Given the description of an element on the screen output the (x, y) to click on. 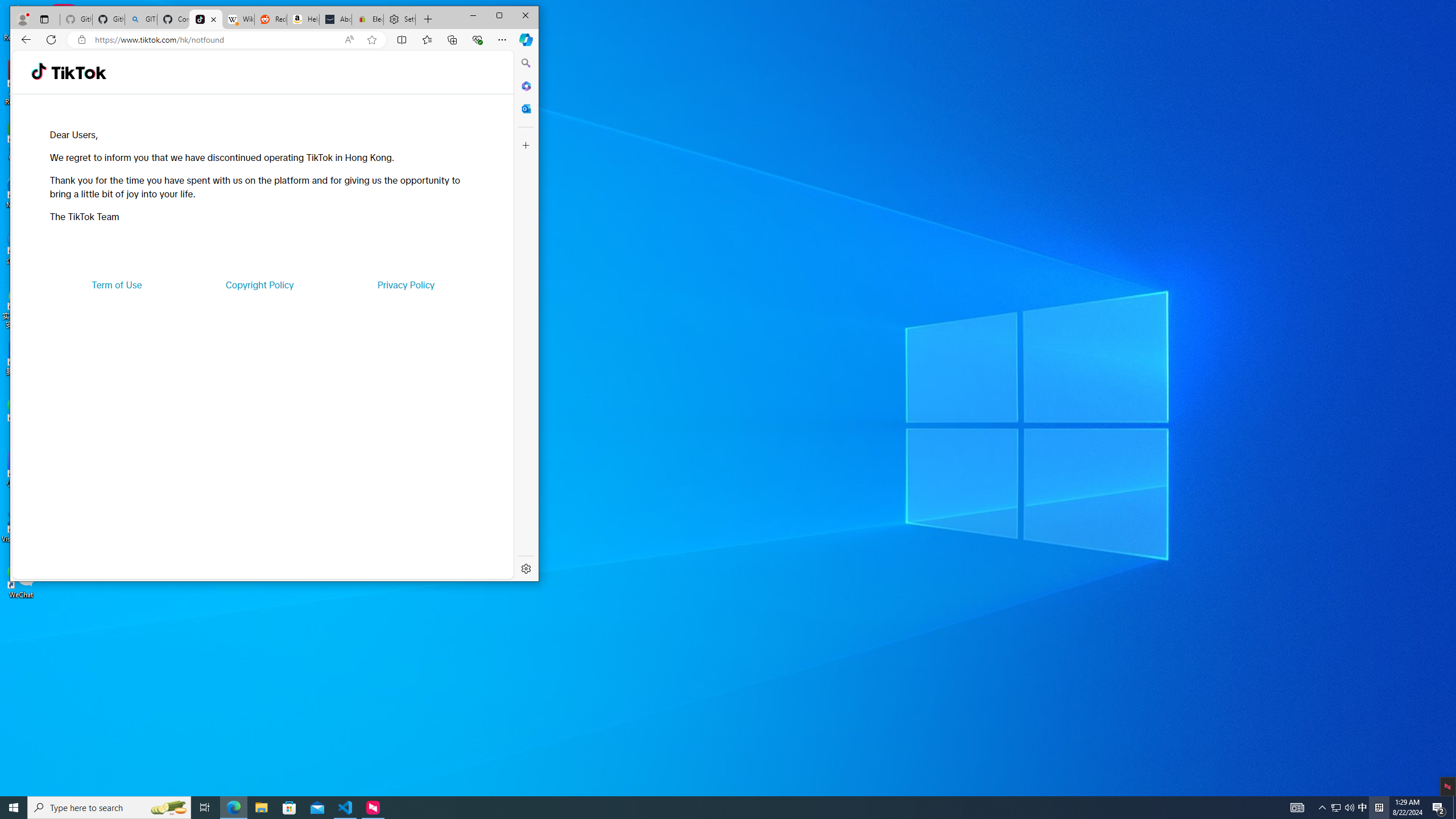
Maximize (499, 15)
Action Center, 2 new notifications (1439, 807)
Reddit - Dive into anything (269, 19)
Help & Contact Us - Amazon Customer Service (303, 19)
Copyright Policy (259, 284)
Running applications (707, 807)
Q2790: 100% (1349, 807)
Visual Studio Code - 1 running window (345, 807)
Type here to search (108, 807)
